Given the description of an element on the screen output the (x, y) to click on. 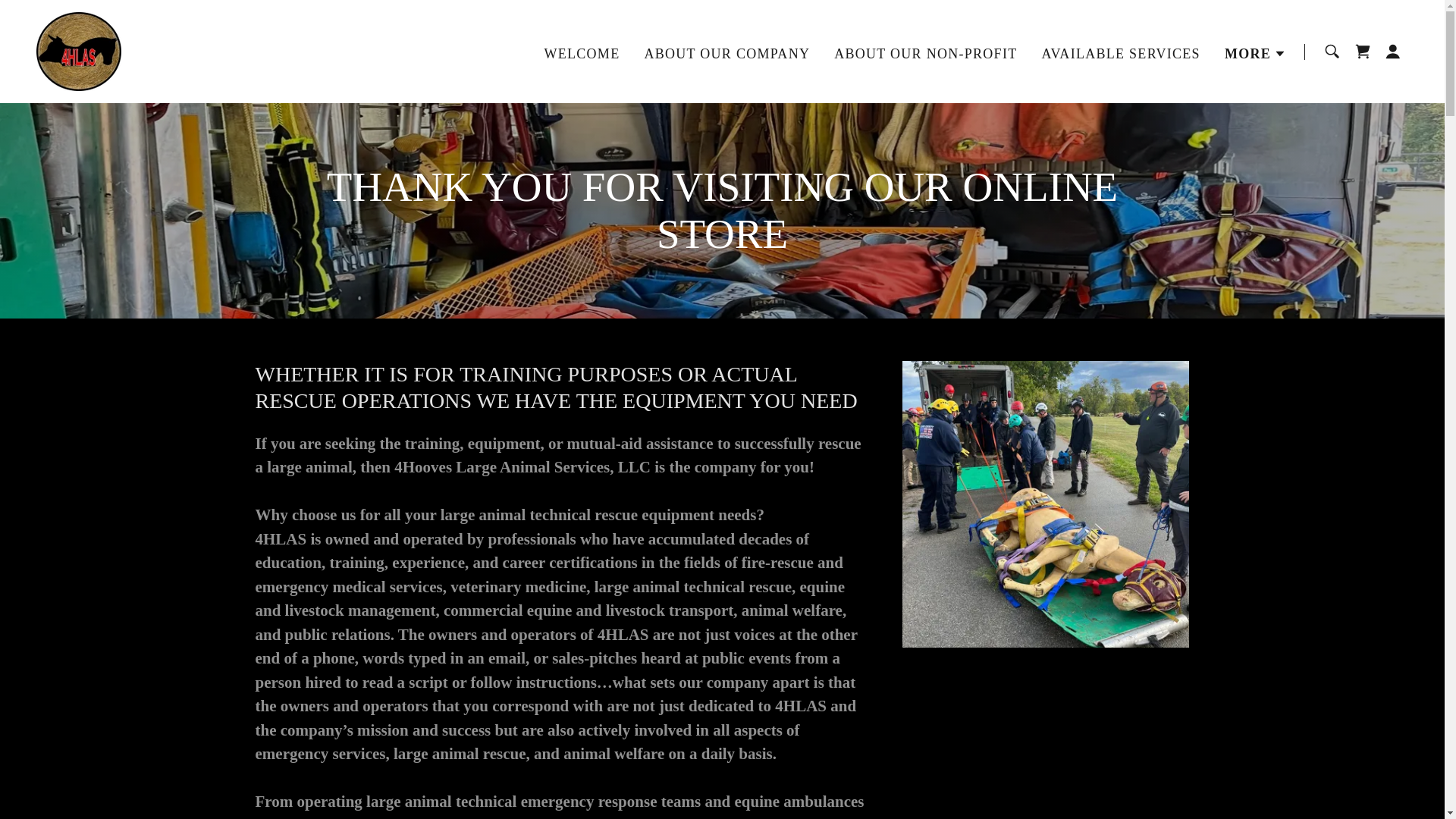
ABOUT OUR COMPANY (726, 52)
4Hooves Large Animal Services, LLC (78, 49)
AVAILABLE SERVICES (1120, 52)
WELCOME (581, 52)
ABOUT OUR NON-PROFIT (925, 52)
MORE (1254, 53)
